Given the description of an element on the screen output the (x, y) to click on. 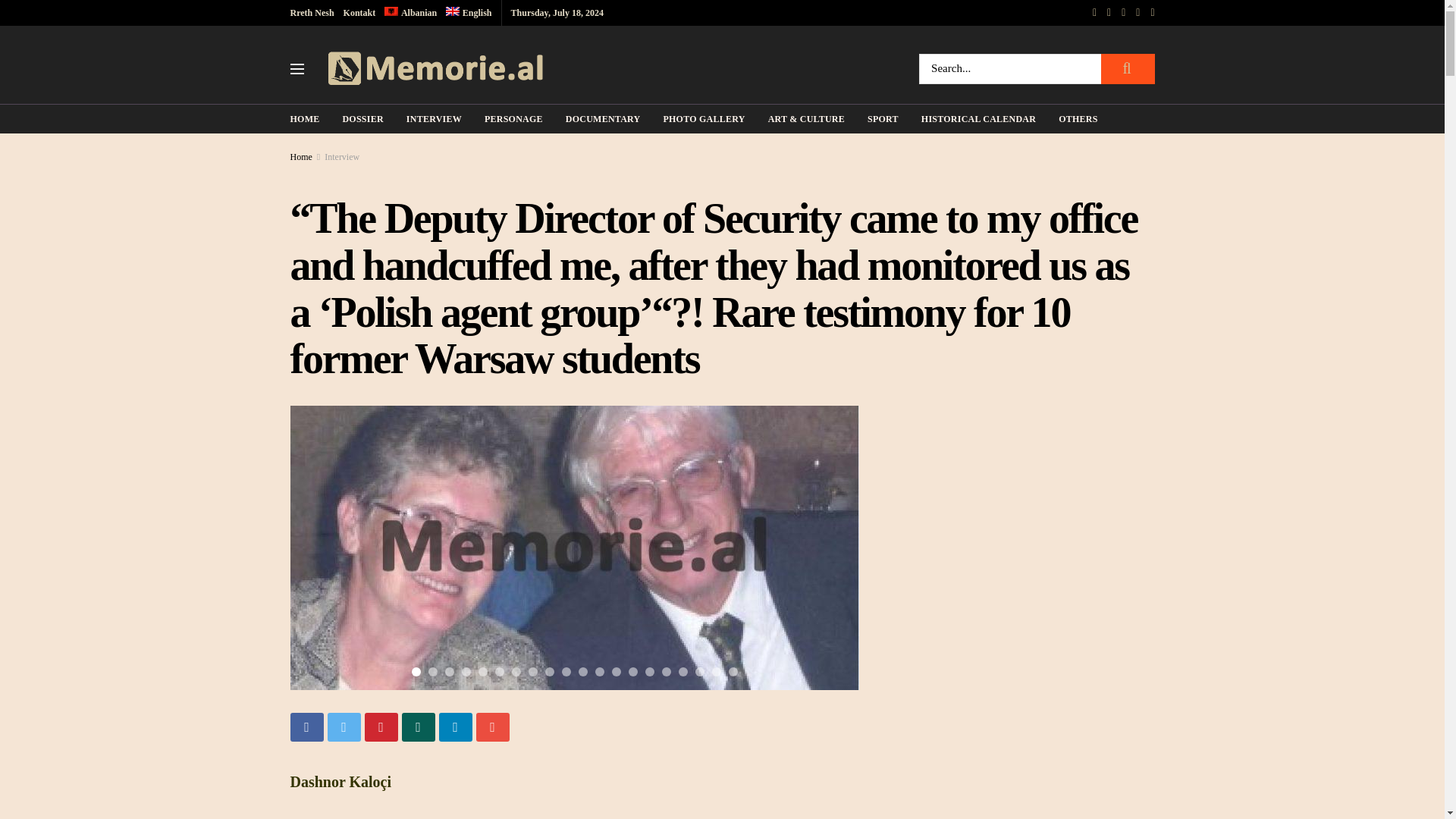
DOSSIER (362, 118)
PHOTO GALLERY (703, 118)
PERSONAGE (513, 118)
INTERVIEW (433, 118)
DOCUMENTARY (603, 118)
OTHERS (1077, 118)
SPORT (882, 118)
HISTORICAL CALENDAR (978, 118)
Albanian (410, 12)
Albanian (410, 12)
HOME (303, 118)
Home (300, 156)
Kontakt (359, 12)
English (468, 12)
English (468, 12)
